Given the description of an element on the screen output the (x, y) to click on. 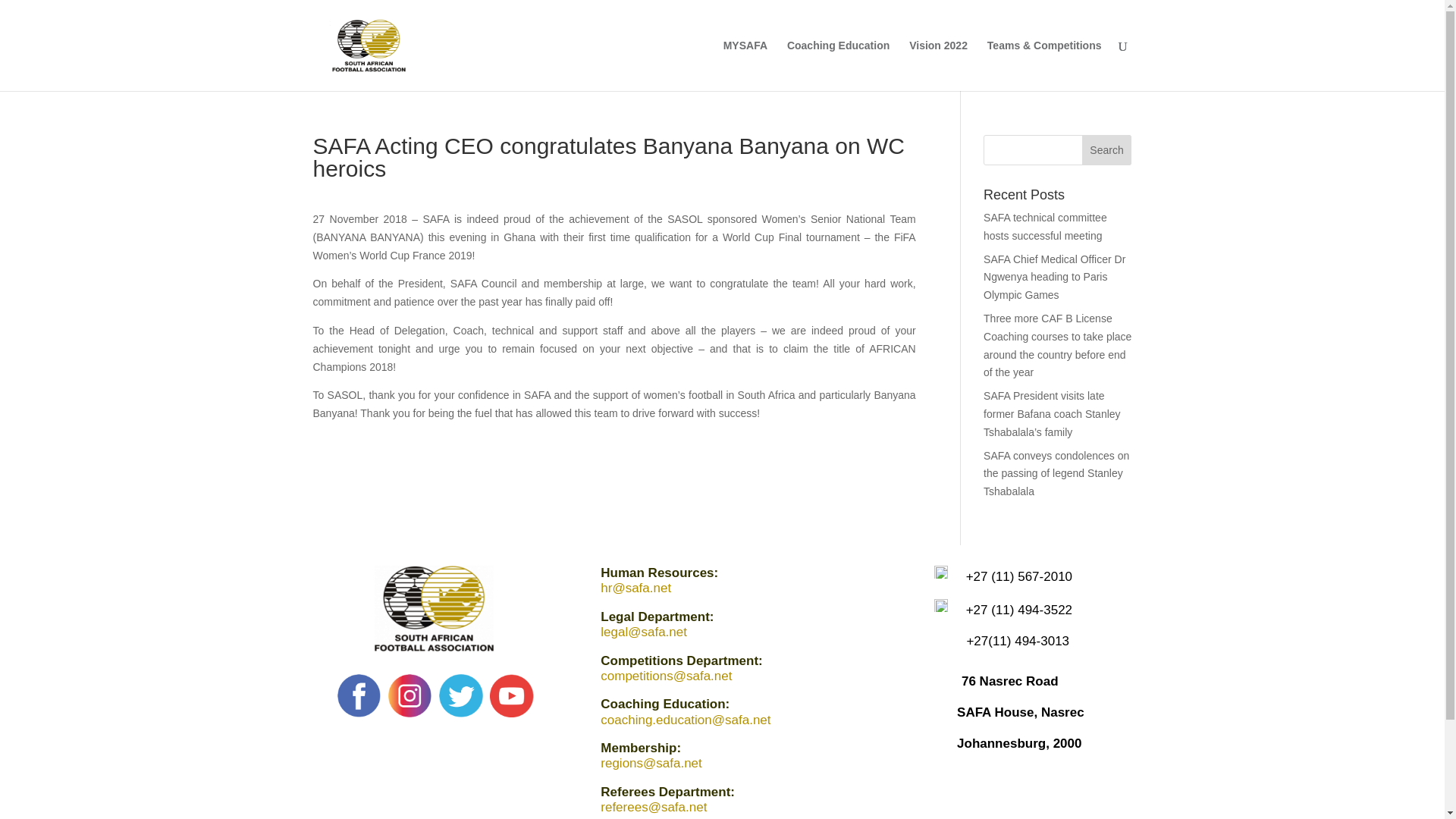
Vision 2022 (938, 65)
Johannesburg, 2000 (1018, 743)
76 Nasrec Road (1009, 681)
SAFA technical committee hosts successful meeting (1045, 226)
Coaching Education (838, 65)
Search (1106, 150)
Search (1106, 150)
SAFA House, Nasrec (1020, 712)
